Given the description of an element on the screen output the (x, y) to click on. 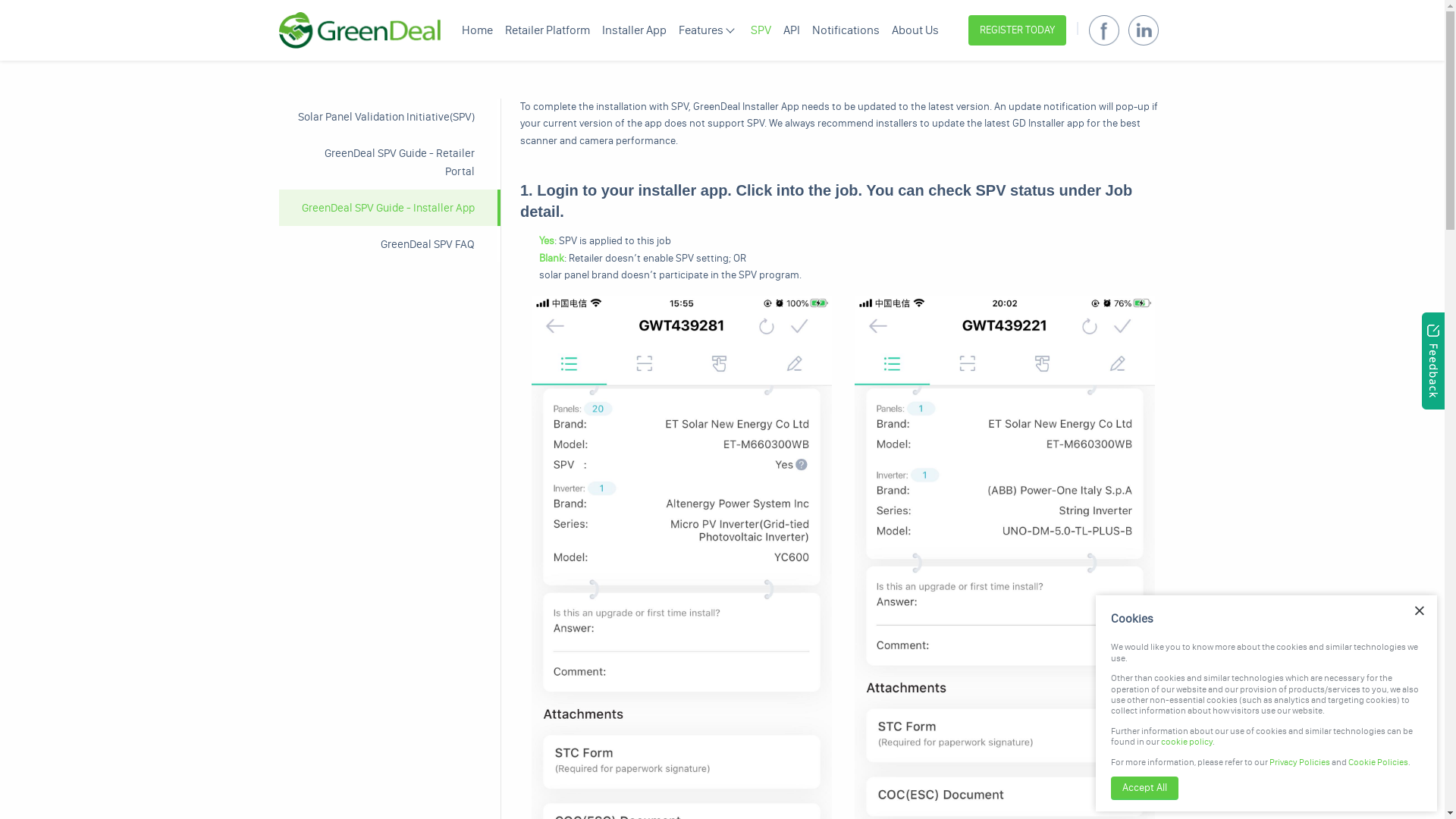
SPV Element type: text (760, 30)
Features Element type: text (704, 30)
Accept All Element type: text (1144, 788)
Installer App Element type: text (634, 30)
Notifications Element type: text (845, 30)
GreenDeal SPV FAQ Element type: text (390, 243)
REGISTER TODAY Element type: text (1016, 30)
Privacy Policies Element type: text (1299, 761)
About Us Element type: text (914, 30)
Home Element type: text (476, 30)
GreenDeal SPV Guide - Retailer Portal Element type: text (390, 161)
cookie policy Element type: text (1186, 741)
GreenDeal SPV Guide - Installer App Element type: text (390, 207)
API Element type: text (791, 30)
Retailer Platform Element type: text (547, 30)
Solar Panel Validation Initiative(SPV) Element type: text (390, 116)
Cookie Policies Element type: text (1378, 761)
